Given the description of an element on the screen output the (x, y) to click on. 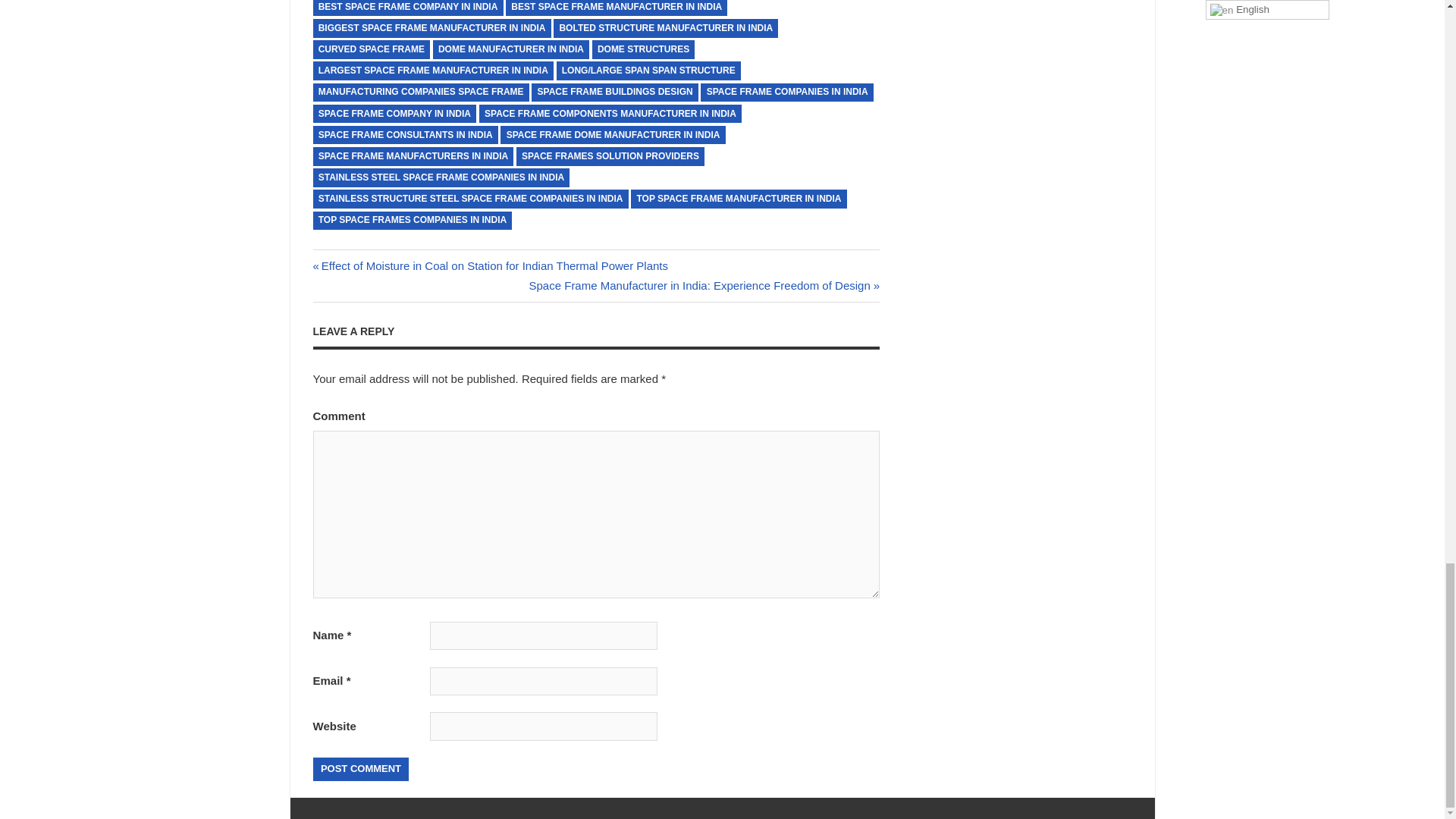
BOLTED STRUCTURE MANUFACTURER IN INDIA (665, 27)
SPACE FRAME COMPANY IN INDIA (394, 113)
SPACE FRAME COMPONENTS MANUFACTURER IN INDIA (610, 113)
SPACE FRAMES SOLUTION PROVIDERS (610, 156)
DOME STRUCTURES (643, 49)
BIGGEST SPACE FRAME MANUFACTURER IN INDIA (431, 27)
SPACE FRAME BUILDINGS DESIGN (614, 92)
BEST SPACE FRAME COMPANY IN INDIA (407, 8)
SPACE FRAME DOME MANUFACTURER IN INDIA (612, 135)
